Given the description of an element on the screen output the (x, y) to click on. 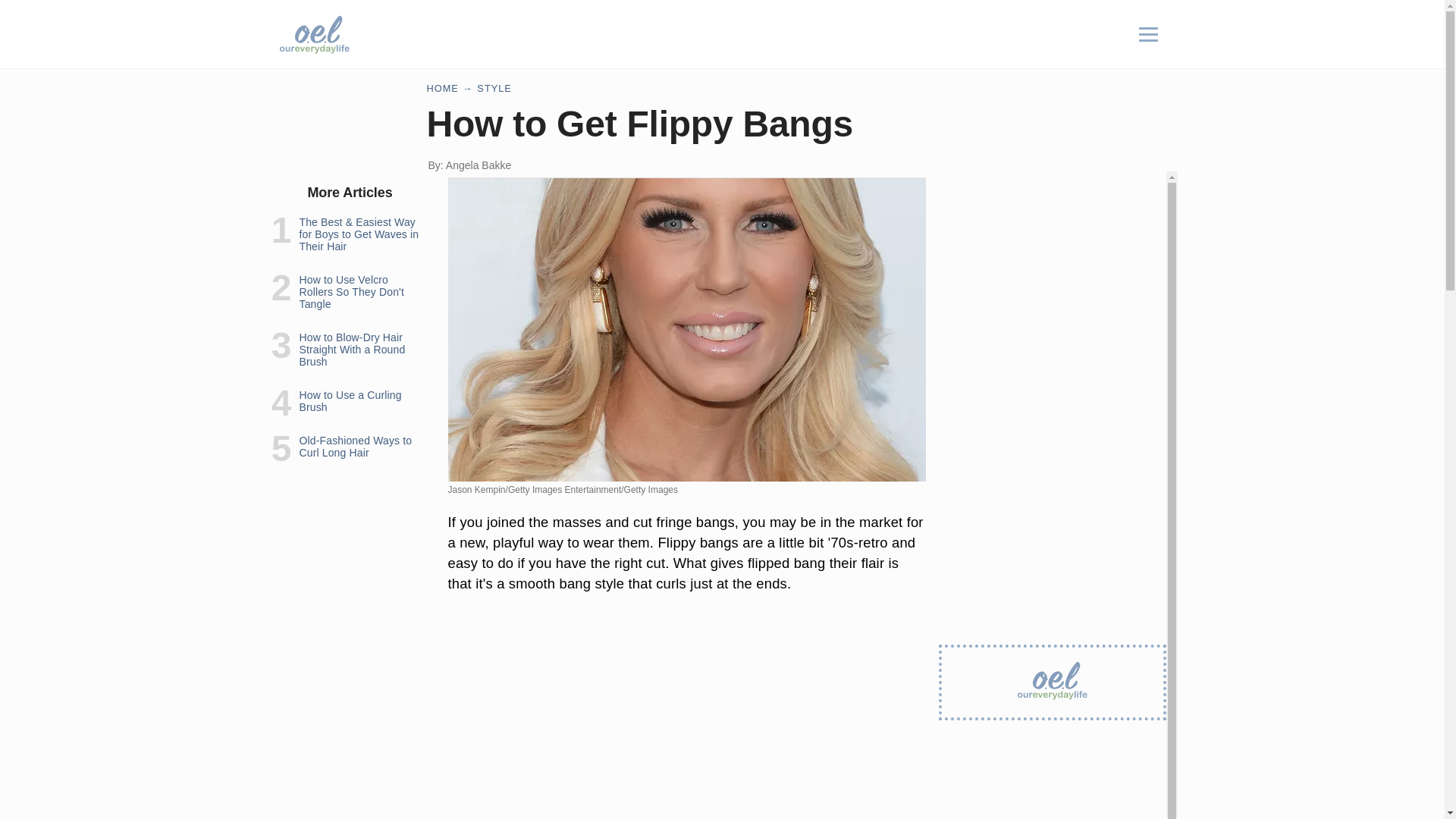
Old-Fashioned Ways to Curl Long Hair (355, 446)
How to Use Velcro Rollers So They Don't Tangle (350, 291)
HOME (442, 88)
How to Use a Curling Brush (349, 401)
How to Blow-Dry Hair Straight With a Round Brush (351, 349)
STYLE (494, 88)
